Given the description of an element on the screen output the (x, y) to click on. 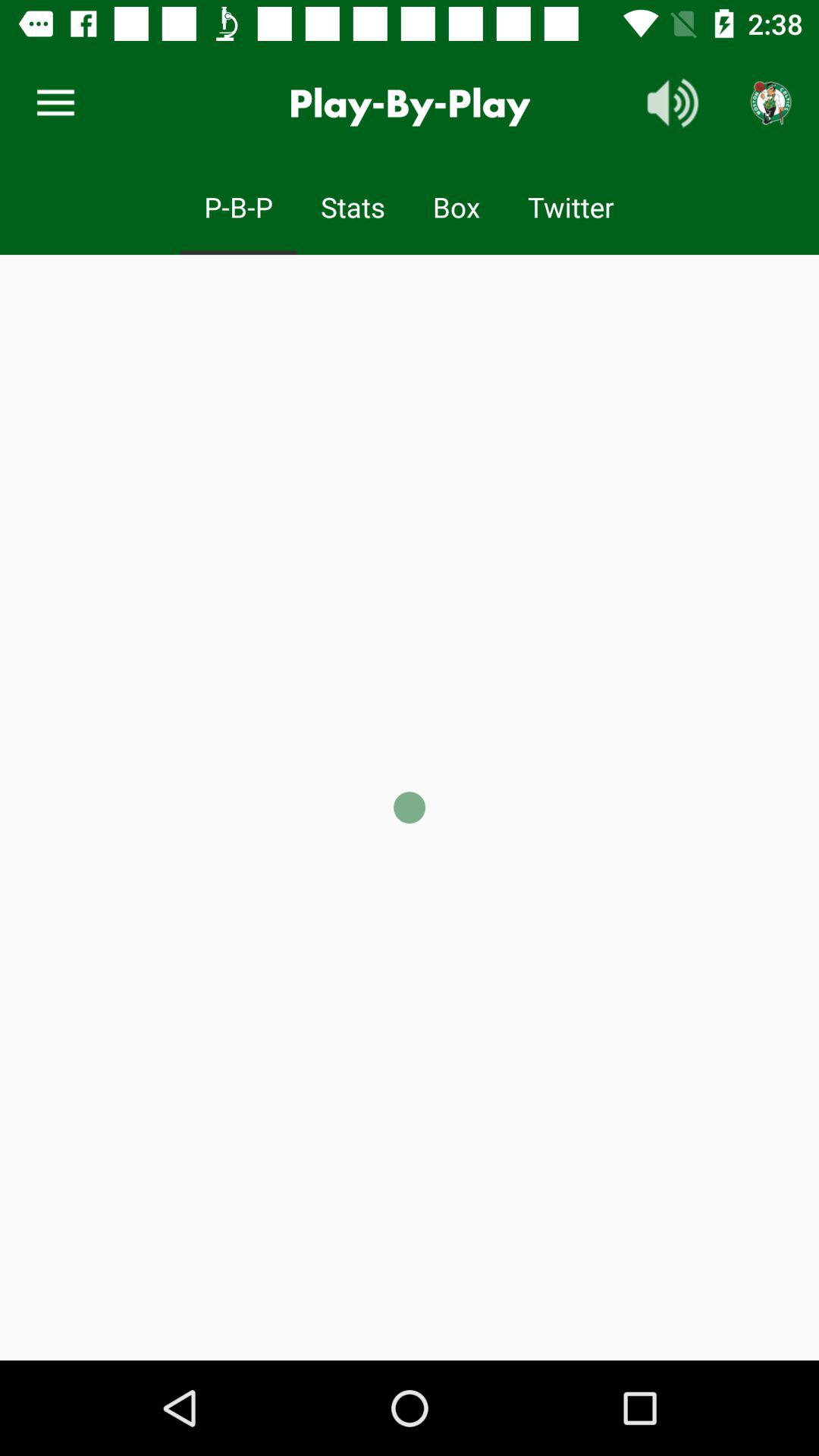
launch the icon to the right of the play-by-play icon (673, 103)
